Given the description of an element on the screen output the (x, y) to click on. 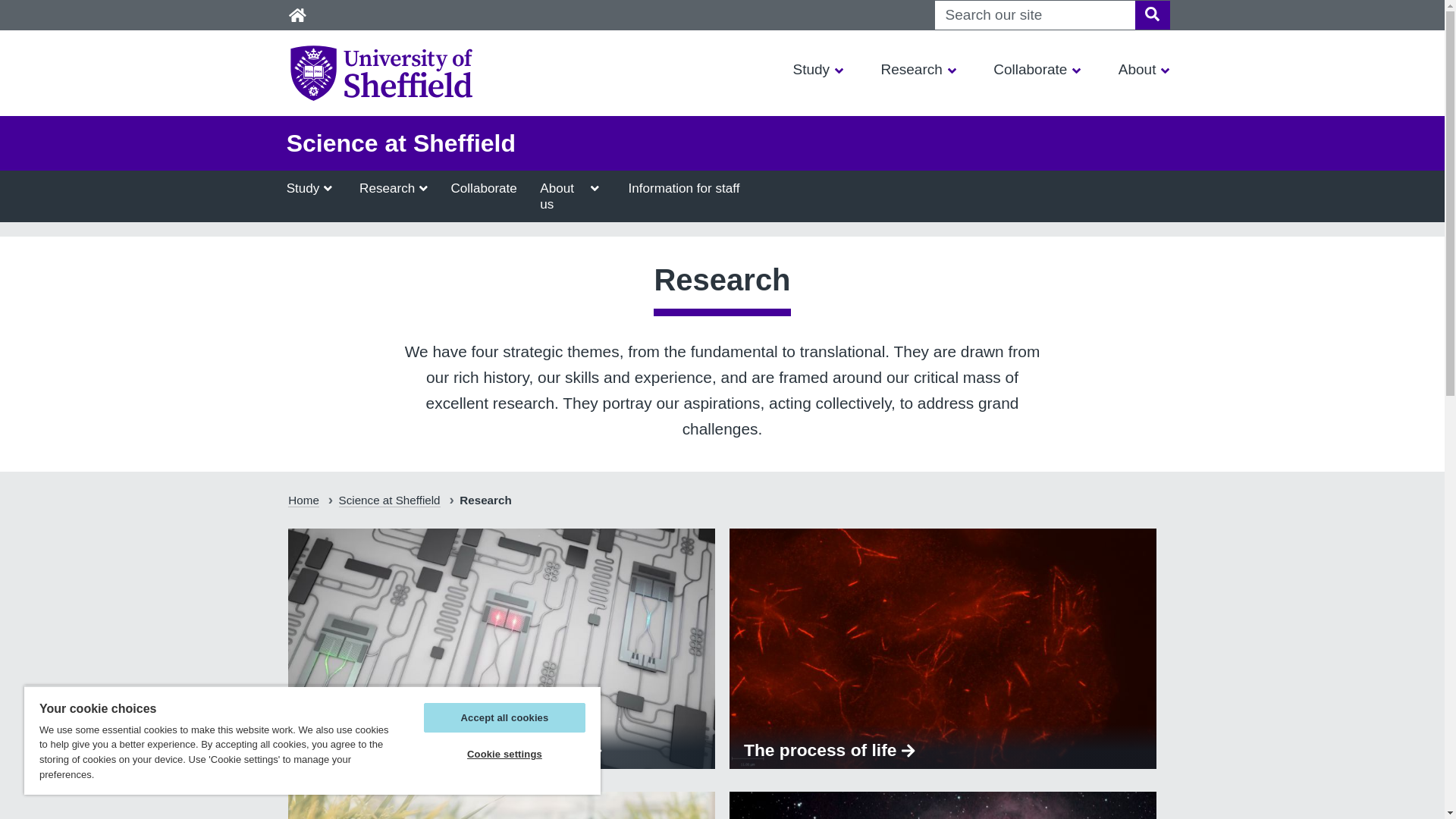
Home (296, 15)
Home (296, 14)
Home (296, 14)
